Given the description of an element on the screen output the (x, y) to click on. 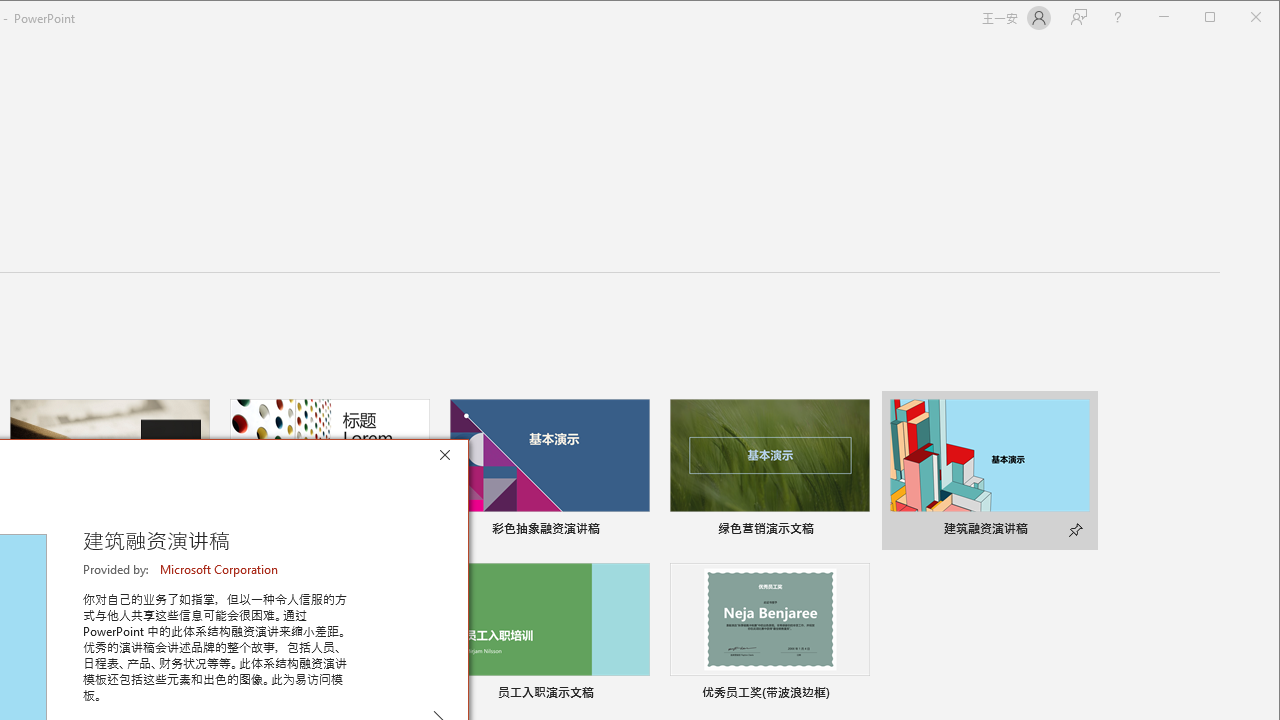
Pin to list (856, 695)
Microsoft Corporation (220, 569)
